Given the description of an element on the screen output the (x, y) to click on. 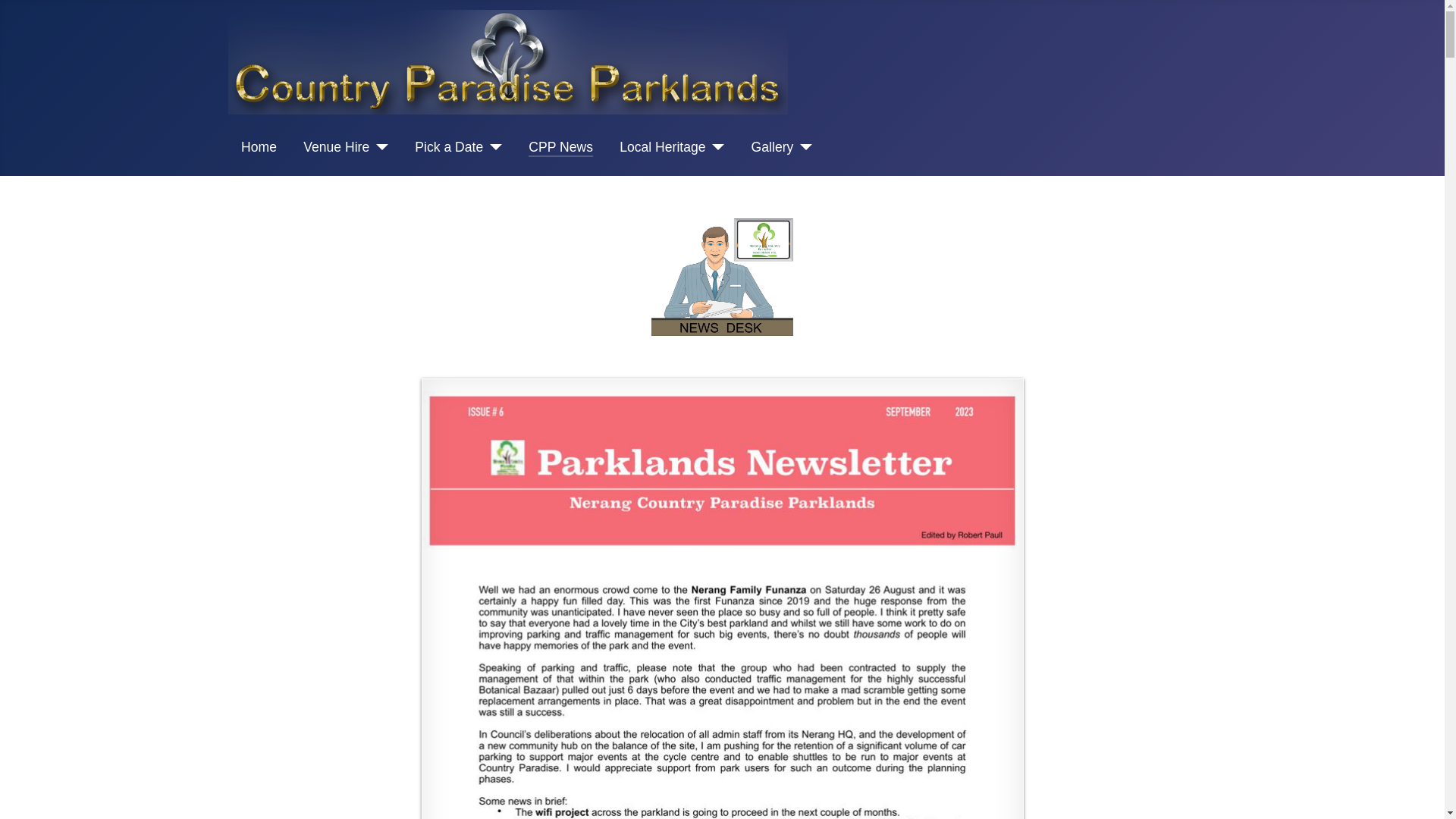
Local Heritage Element type: text (671, 146)
Gallery Element type: text (781, 146)
Home Element type: text (258, 146)
Pick a Date Element type: text (458, 146)
CPP News Element type: text (560, 146)
Venue Hire Element type: text (345, 146)
